Given the description of an element on the screen output the (x, y) to click on. 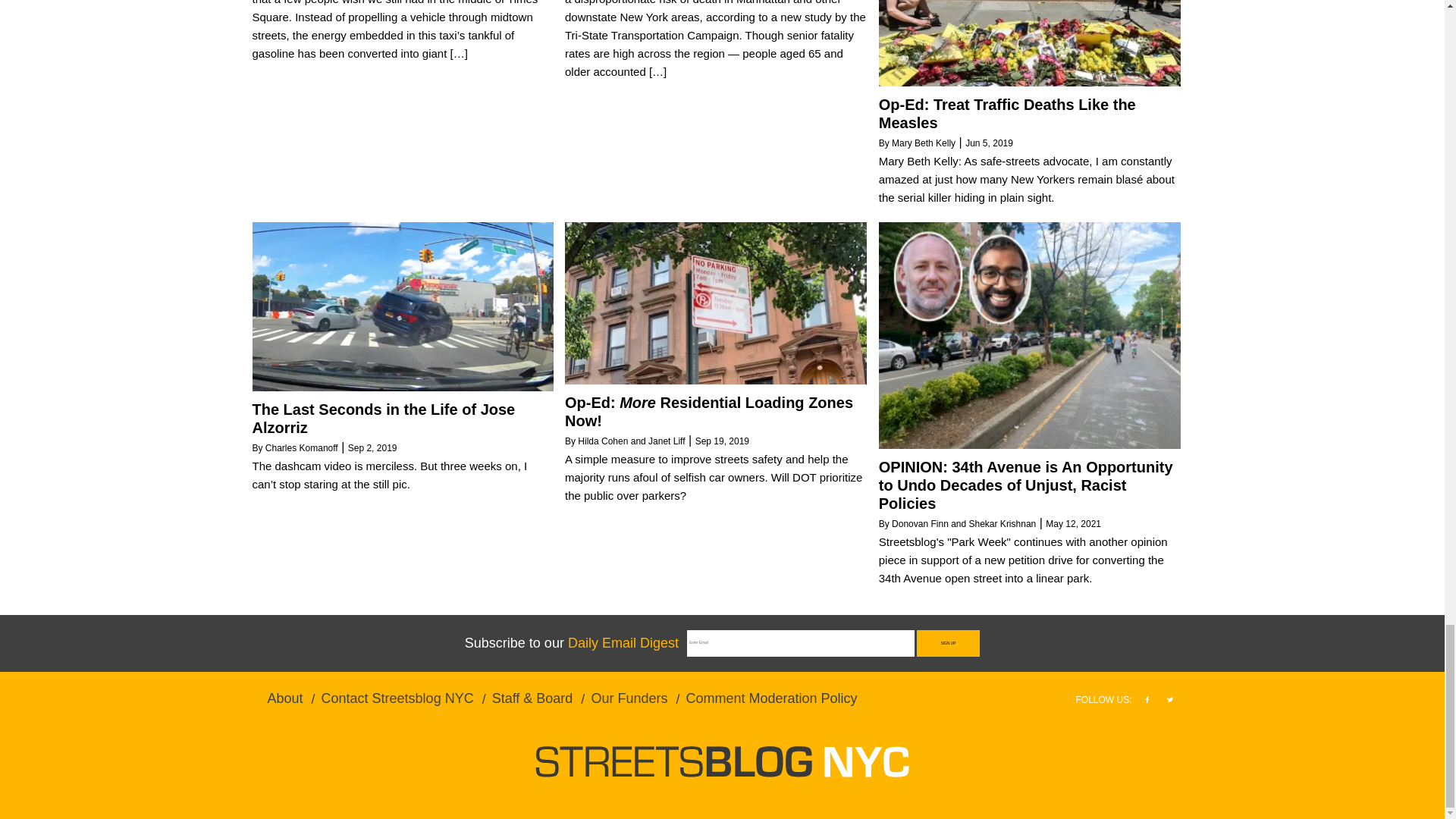
Streetsblog NYC Logo (721, 761)
